Given the description of an element on the screen output the (x, y) to click on. 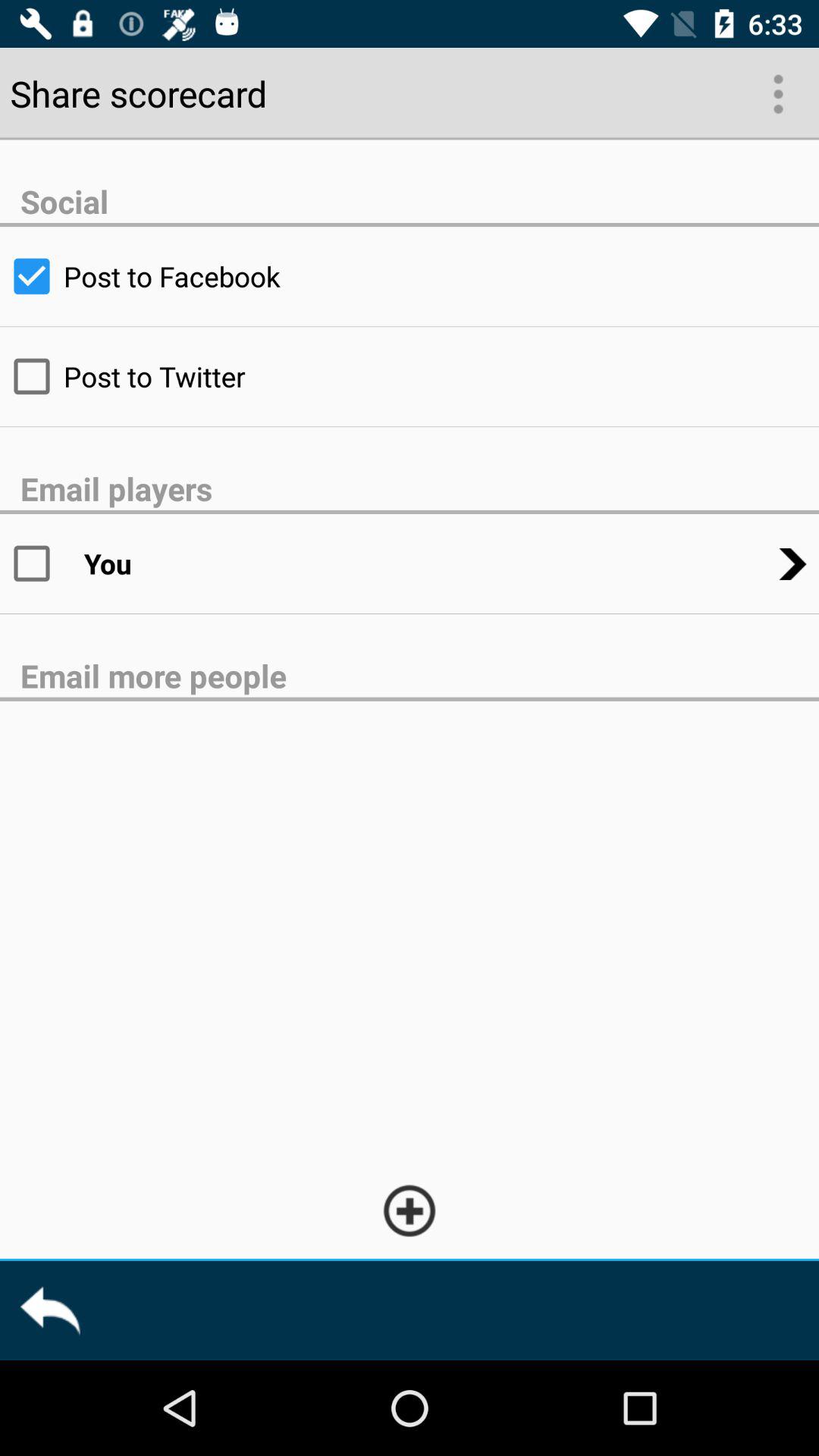
open add more option (409, 1210)
